Given the description of an element on the screen output the (x, y) to click on. 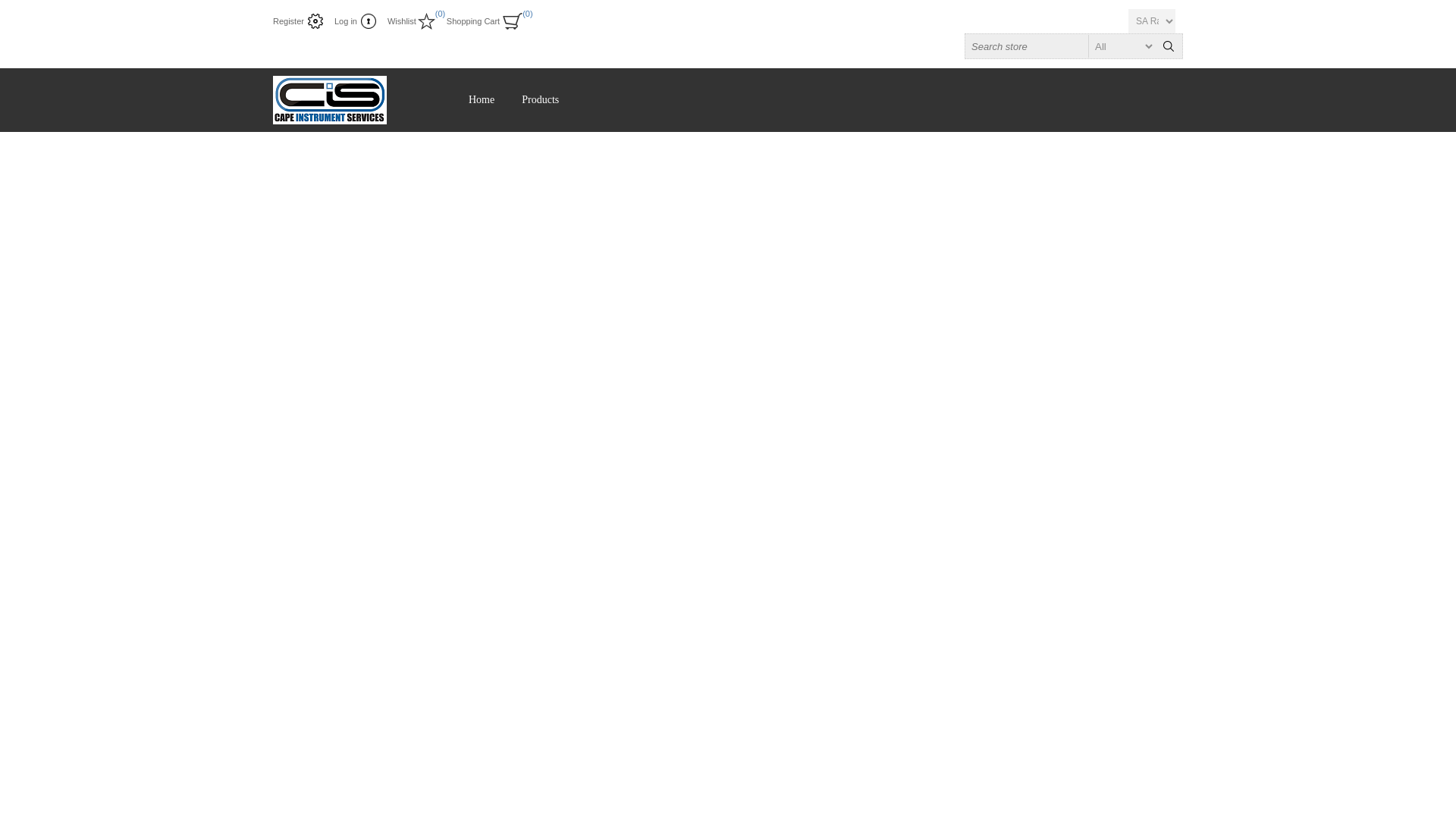
Cape Instrument Services (330, 100)
Home (481, 99)
Search (1168, 46)
Register (298, 21)
Products (540, 99)
Log in (354, 21)
